Given the description of an element on the screen output the (x, y) to click on. 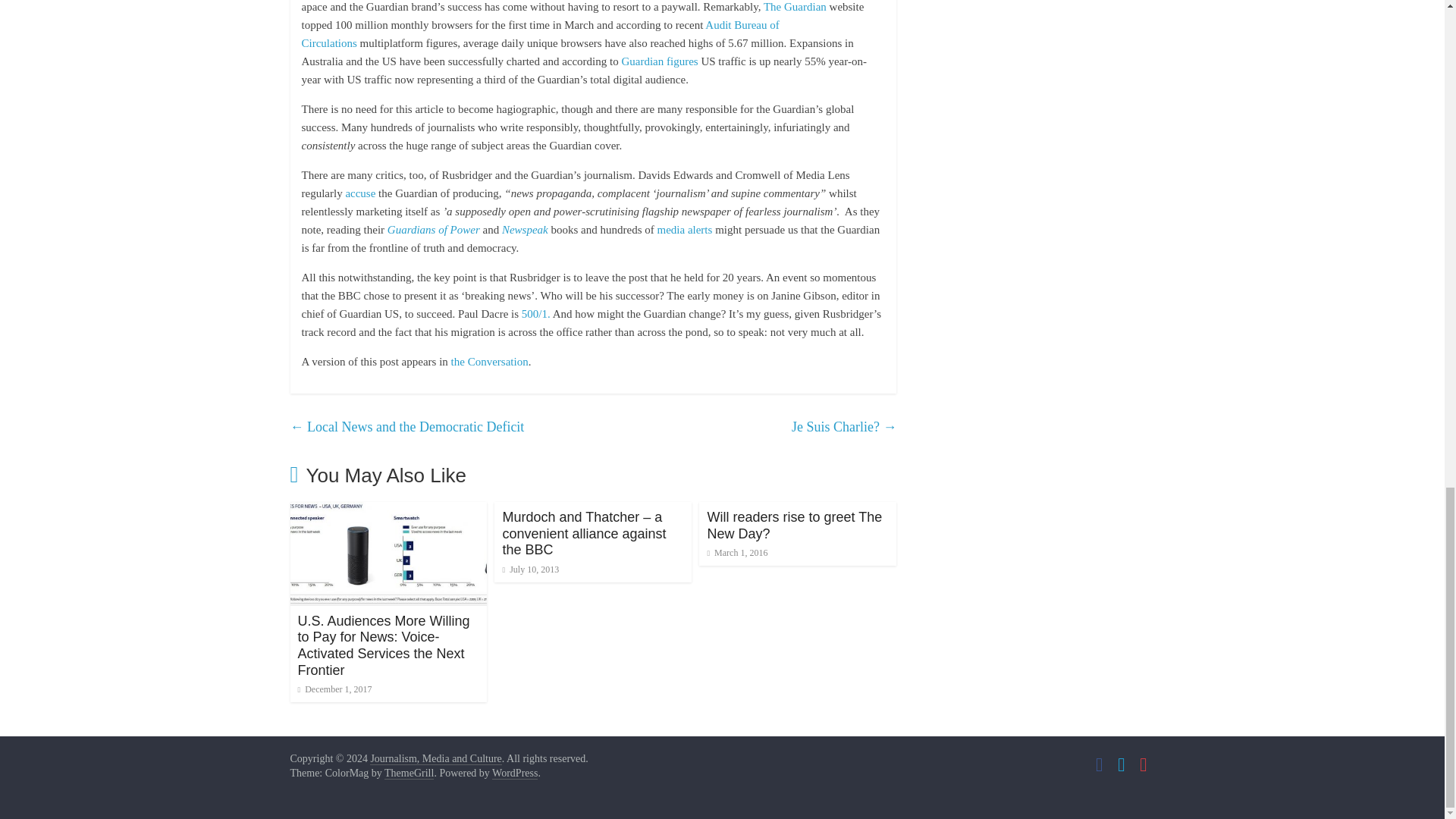
Newspeak (525, 229)
Will readers rise to greet The New Day? (794, 525)
the Conversation (489, 361)
 Audit Bureau of Circulations (539, 33)
Guardian figures (659, 61)
accuse  (361, 193)
1:18 pm (530, 569)
Journalism, Media and Culture (434, 758)
11:46 am (736, 552)
